Given the description of an element on the screen output the (x, y) to click on. 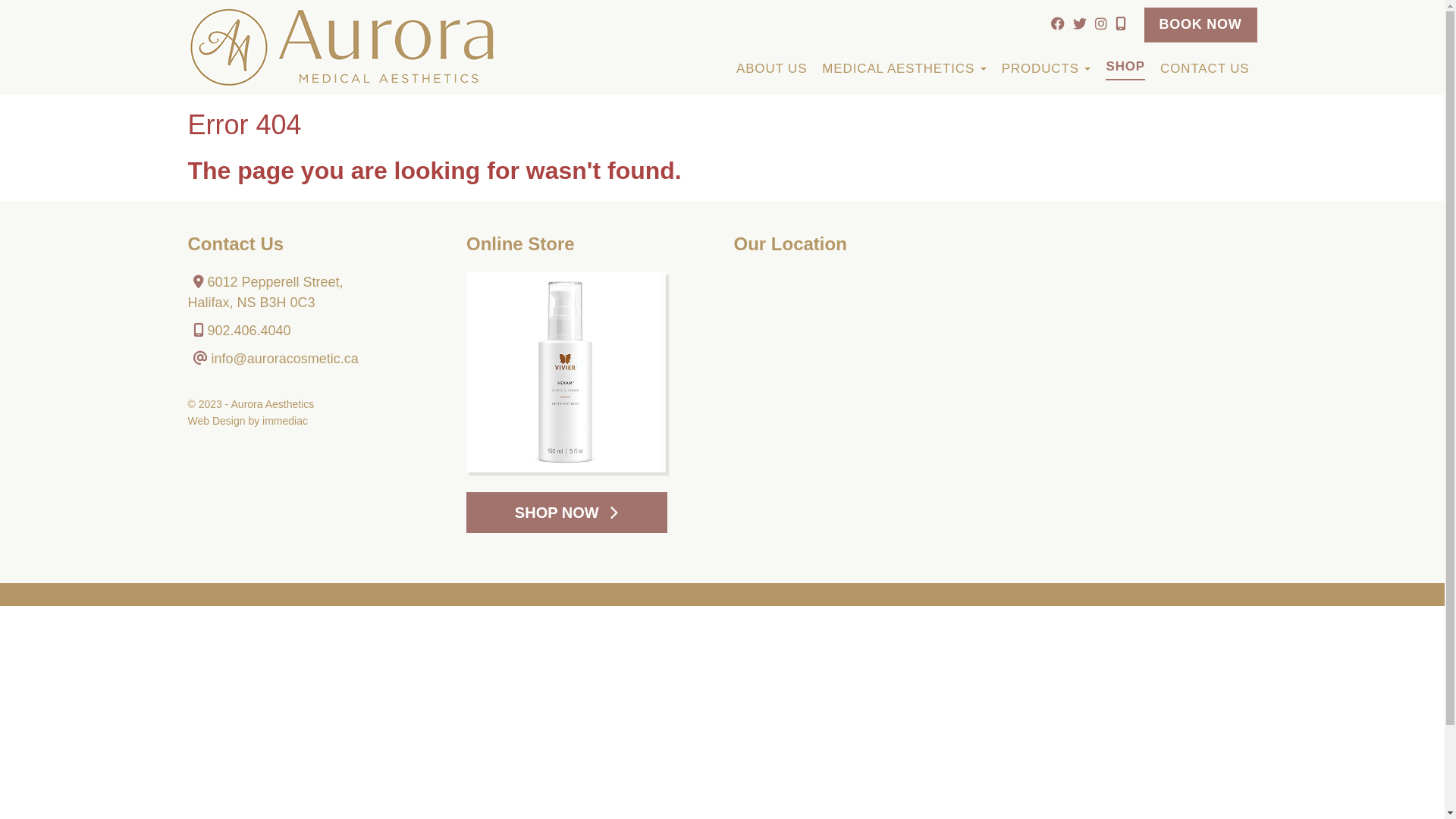
PRODUCTS Element type: text (1046, 67)
info@auroracosmetic.ca Element type: text (284, 358)
Web Design Element type: text (216, 420)
SHOP NOW Element type: text (566, 512)
CONTACT US Element type: text (1204, 67)
BOOK NOW Element type: text (1199, 24)
 902.406.4040 Element type: text (239, 330)
MEDICAL AESTHETICS Element type: text (903, 67)
ABOUT US Element type: text (771, 67)
SHOP Element type: text (1125, 65)
